Given the description of an element on the screen output the (x, y) to click on. 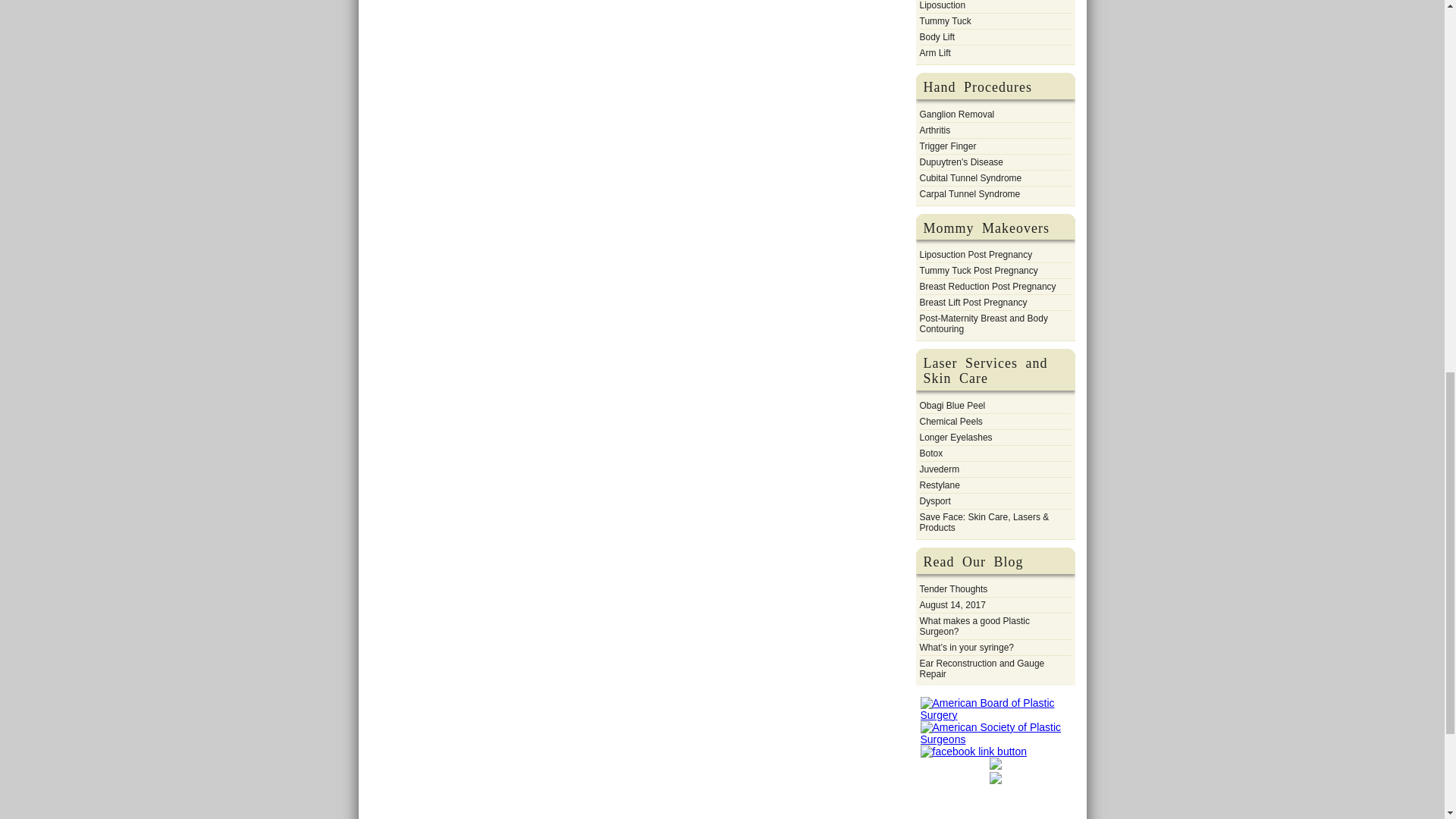
Become an Artistic Plastic Surgery Fan on Facebook (973, 751)
Arthritis (934, 130)
Arm Lift (934, 52)
Ganglion Removal (956, 114)
Cubital Tunnel Syndrome (970, 177)
Breast Lift Post Pregnancy (972, 302)
Post-Maternity Breast and Body Contouring (994, 323)
Tummy Tuck (944, 20)
Liposuction Post Pregnancy (975, 254)
Carpal Tunnel Syndrome (969, 193)
Trigger Finger (946, 145)
Liposuction (941, 6)
Tummy Tuck Post Pregnancy (977, 270)
Breast Reduction Post Pregnancy (986, 286)
Body Lift (936, 37)
